Given the description of an element on the screen output the (x, y) to click on. 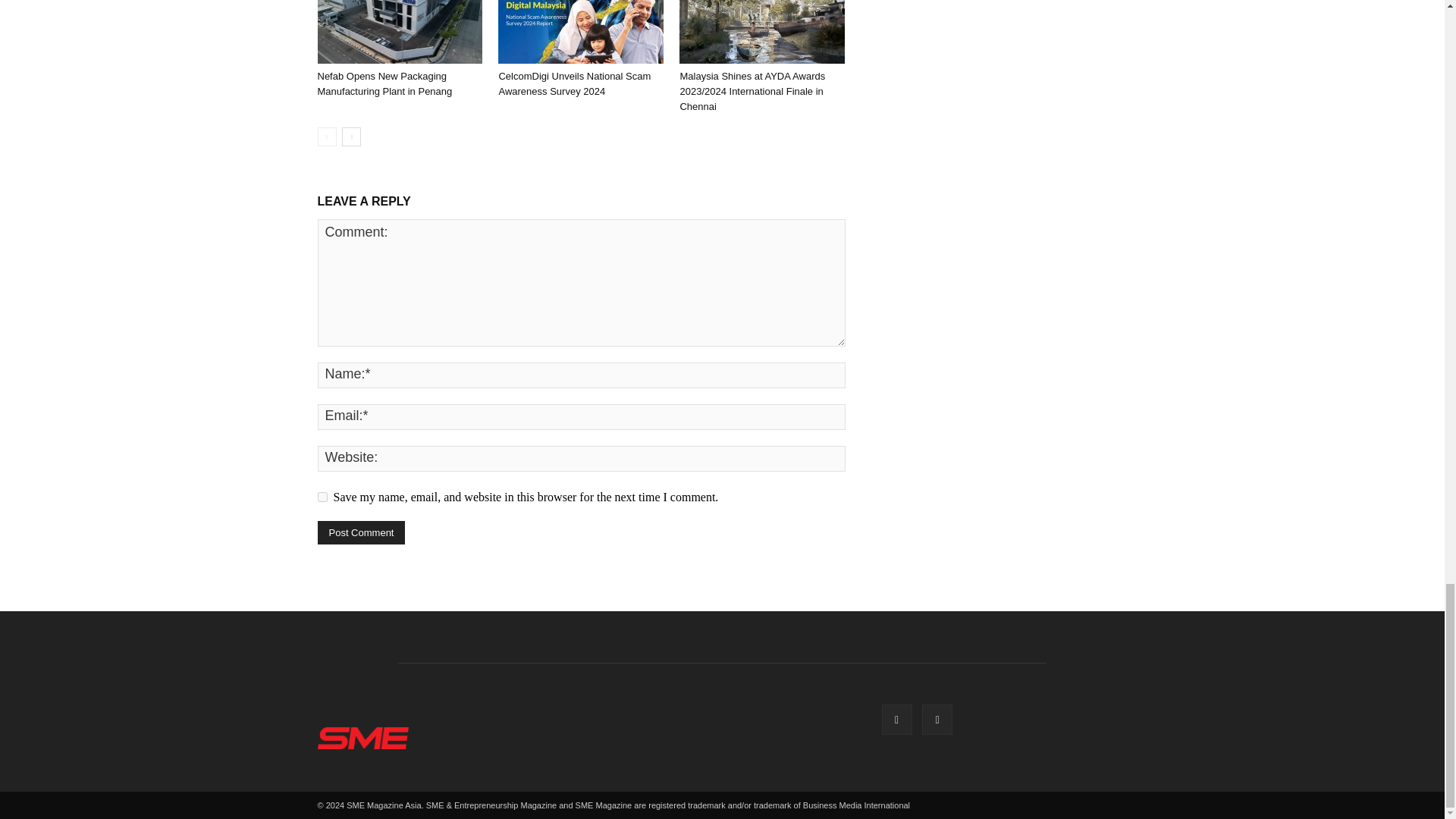
Post Comment (360, 532)
yes (321, 497)
